Given the description of an element on the screen output the (x, y) to click on. 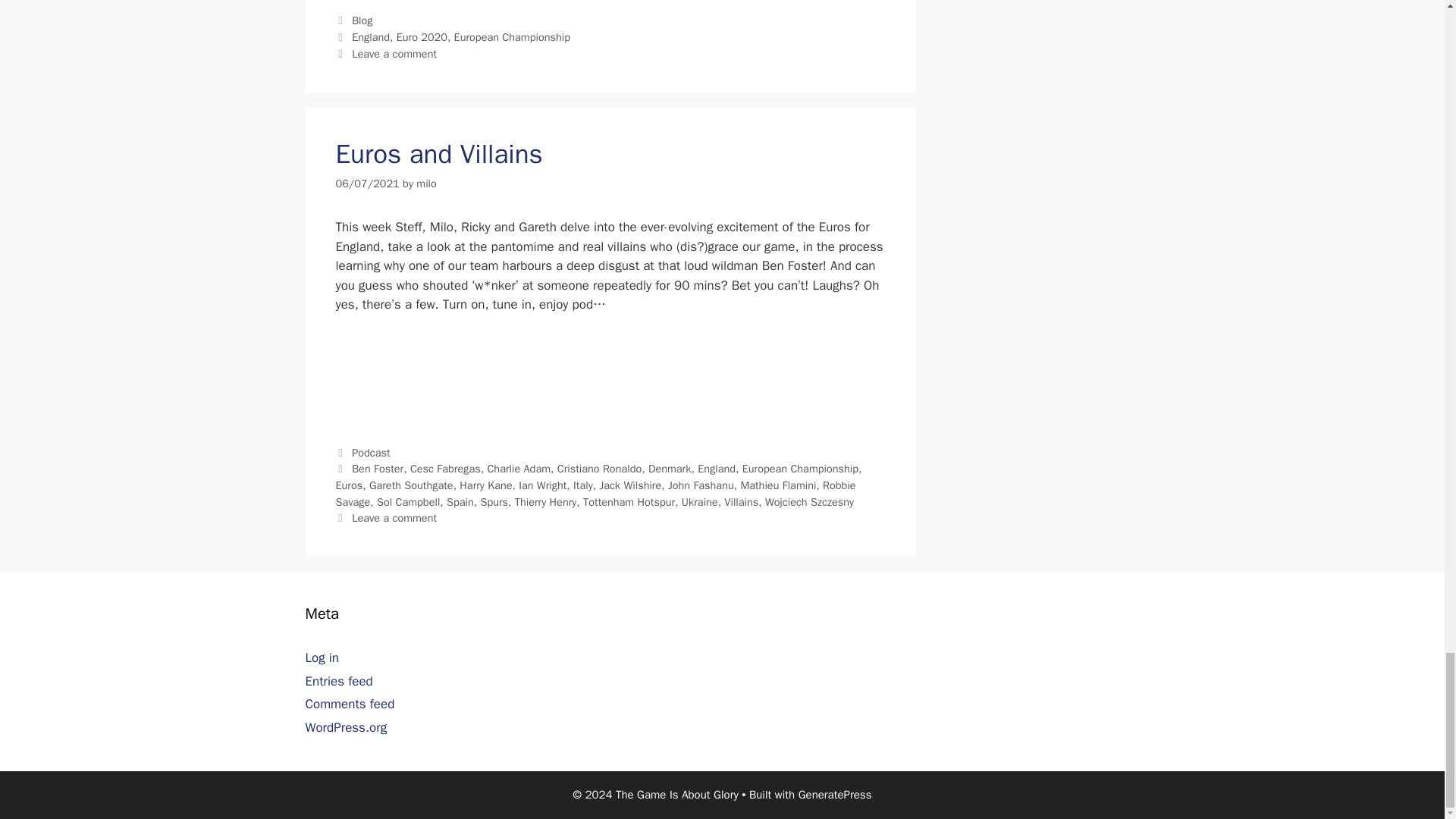
Denmark (669, 468)
England (371, 37)
Podcast (371, 452)
Italy (582, 485)
Ian Wright (542, 485)
Ben Foster (377, 468)
England (716, 468)
milo (426, 183)
John Fashanu (700, 485)
Jack Wilshire (629, 485)
Gareth Southgate (410, 485)
European Championship (800, 468)
Leave a comment (394, 53)
View all posts by milo (426, 183)
Cristiano Ronaldo (599, 468)
